Given the description of an element on the screen output the (x, y) to click on. 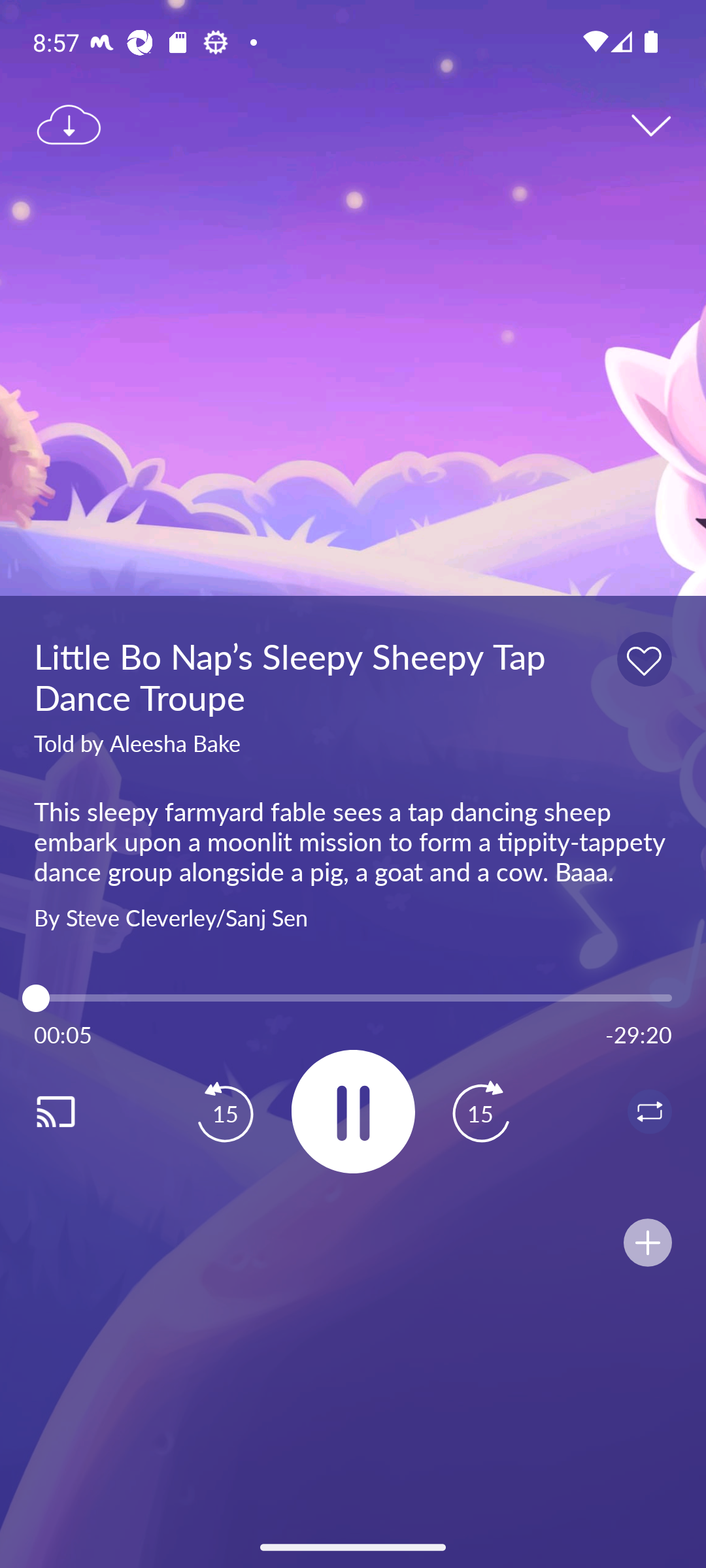
5.0 (352, 997)
Cast. Disconnected (76, 1111)
